Given the description of an element on the screen output the (x, y) to click on. 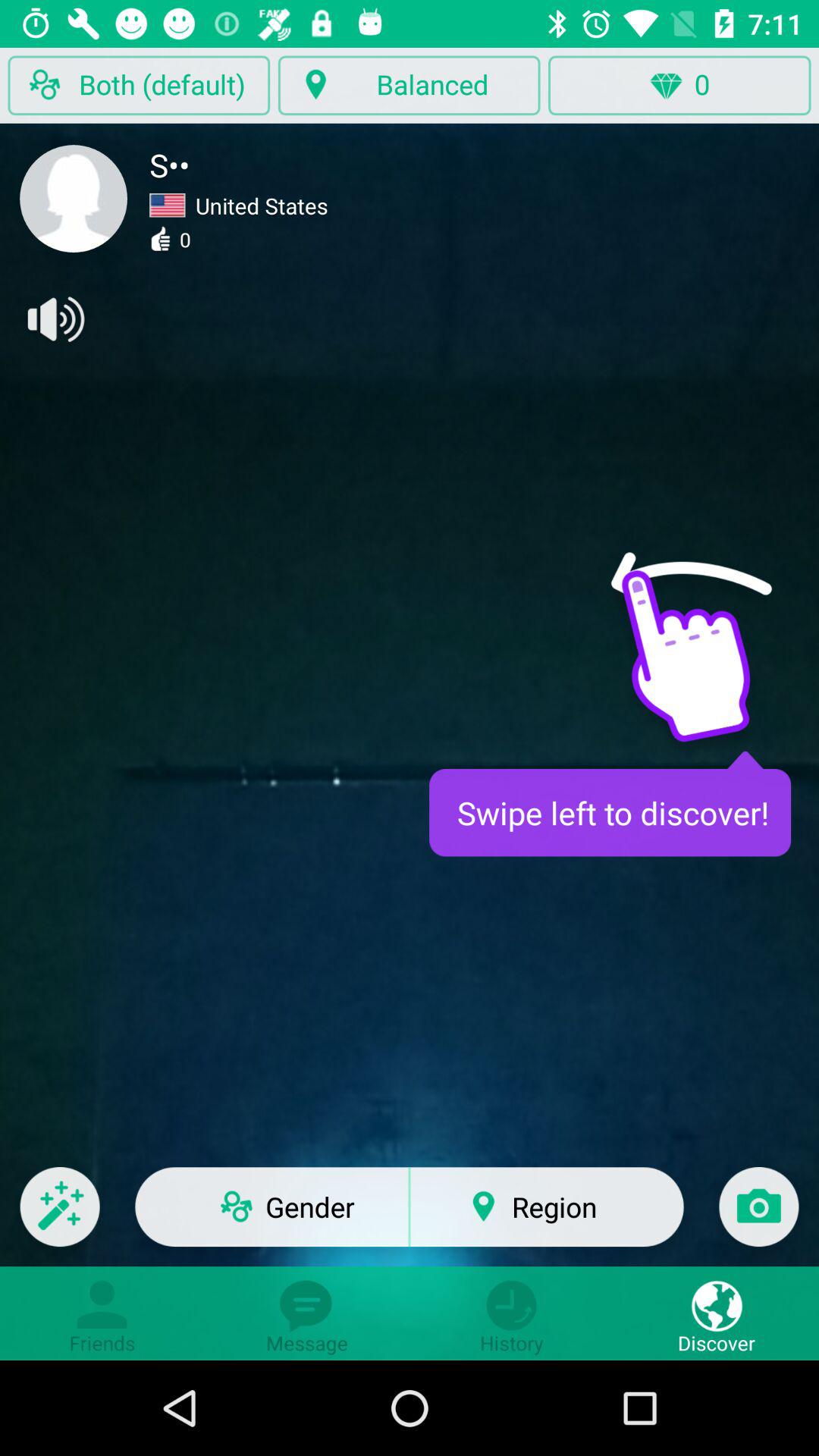
click item next to the gender icon (59, 1216)
